Given the description of an element on the screen output the (x, y) to click on. 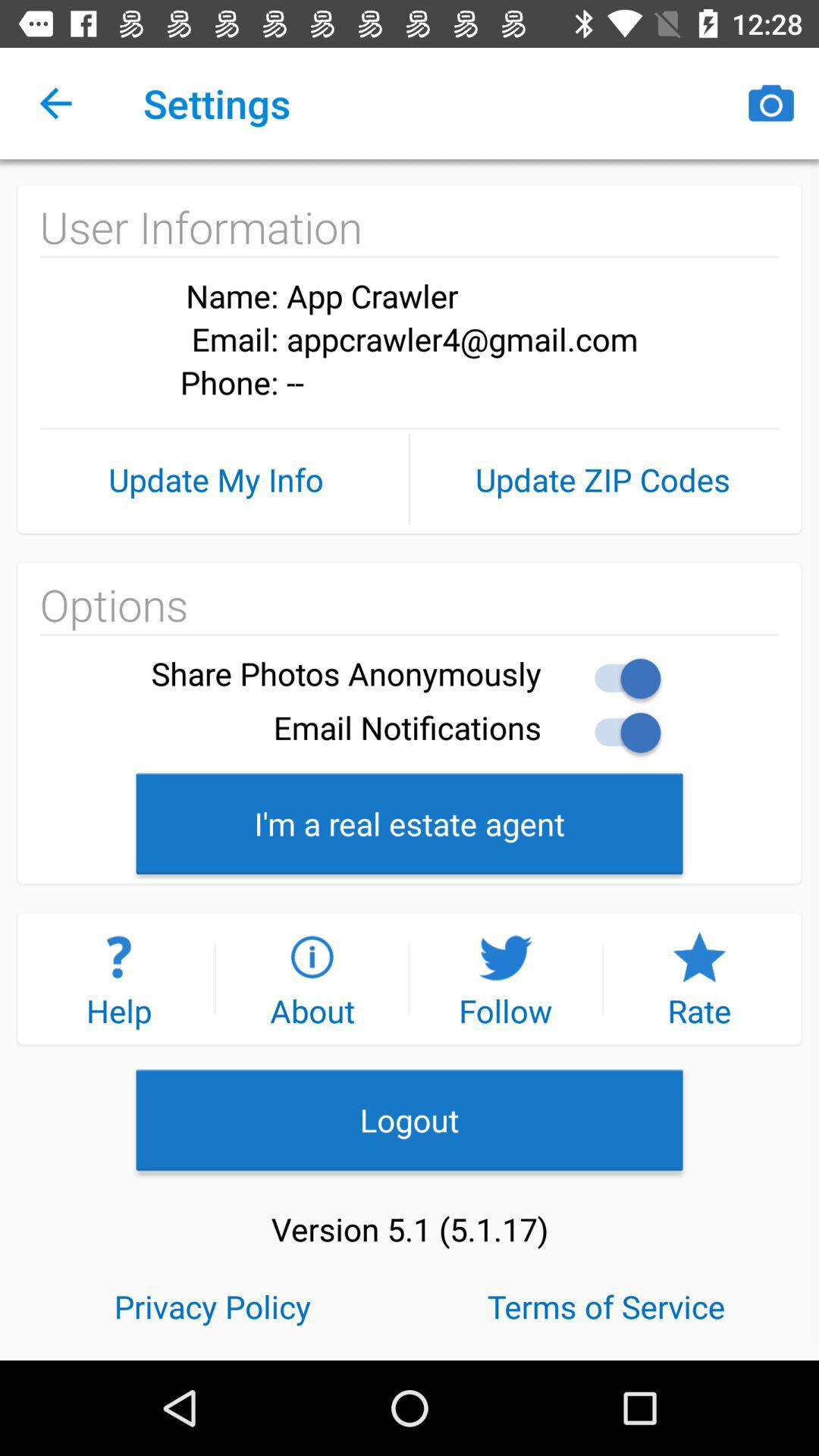
swipe until the i m a item (409, 823)
